Given the description of an element on the screen output the (x, y) to click on. 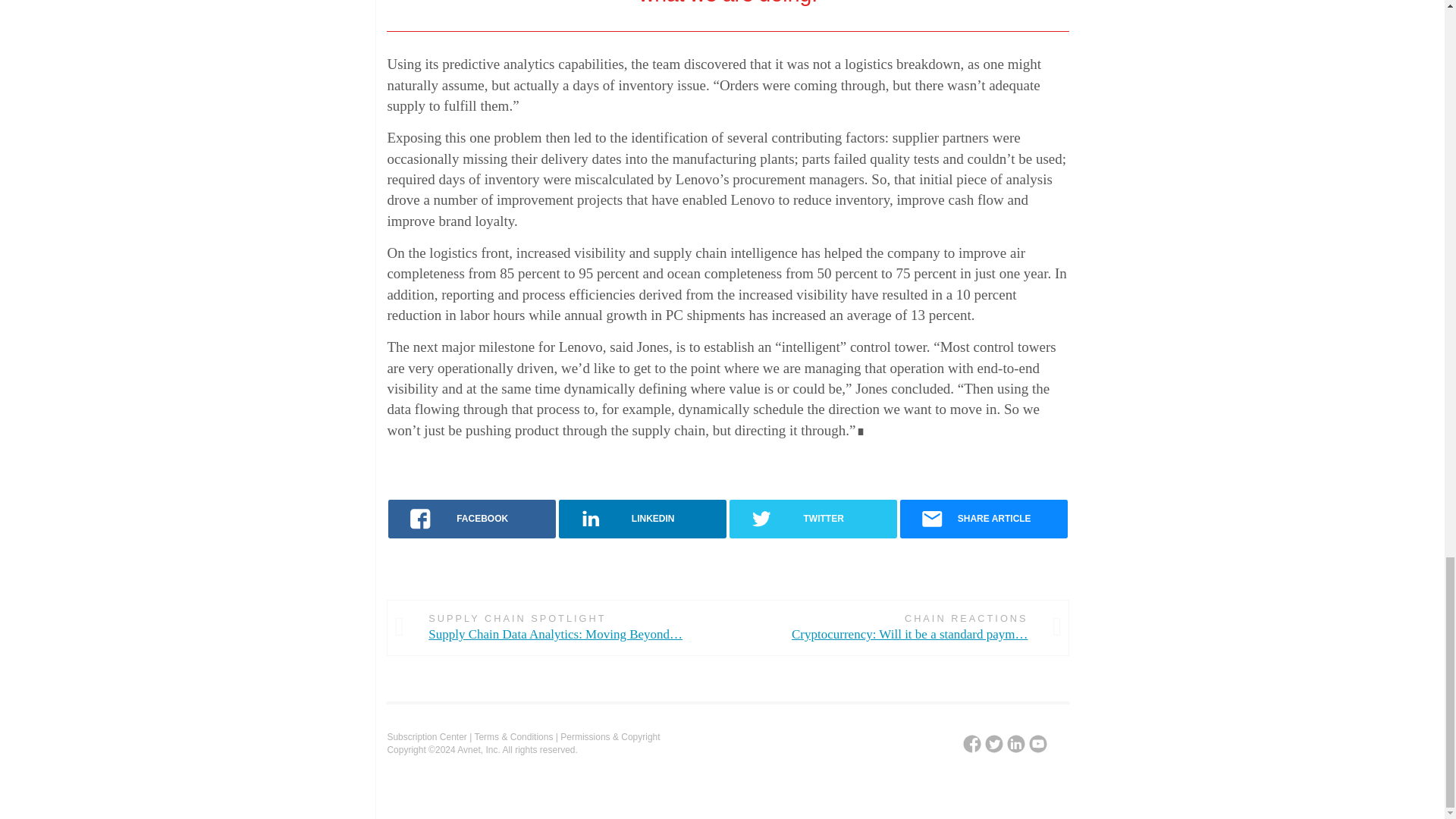
TWITTER (812, 518)
Subscription Center (426, 737)
LINKEDIN (642, 518)
FACEBOOK (472, 518)
SHARE ARTICLE (983, 518)
